Given the description of an element on the screen output the (x, y) to click on. 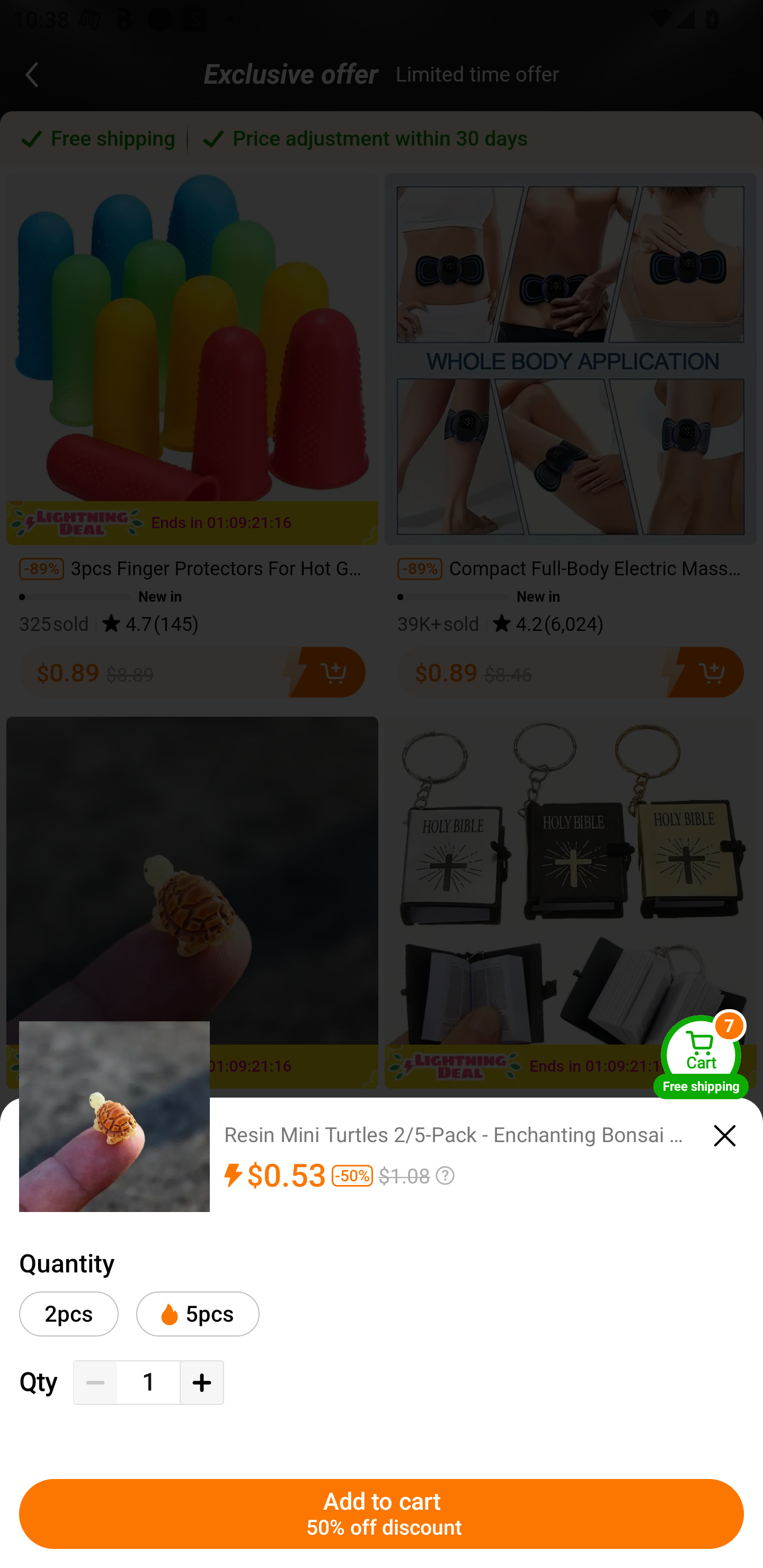
Cart Free shipping Cart (701, 1056)
close (724, 1135)
 2pcs (69, 1313)
 5pcs (197, 1313)
Decrease Quantity Button (95, 1382)
Add Quantity Button (201, 1382)
1 (148, 1382)
Add to cart  50% off discount (381, 1513)
